Given the description of an element on the screen output the (x, y) to click on. 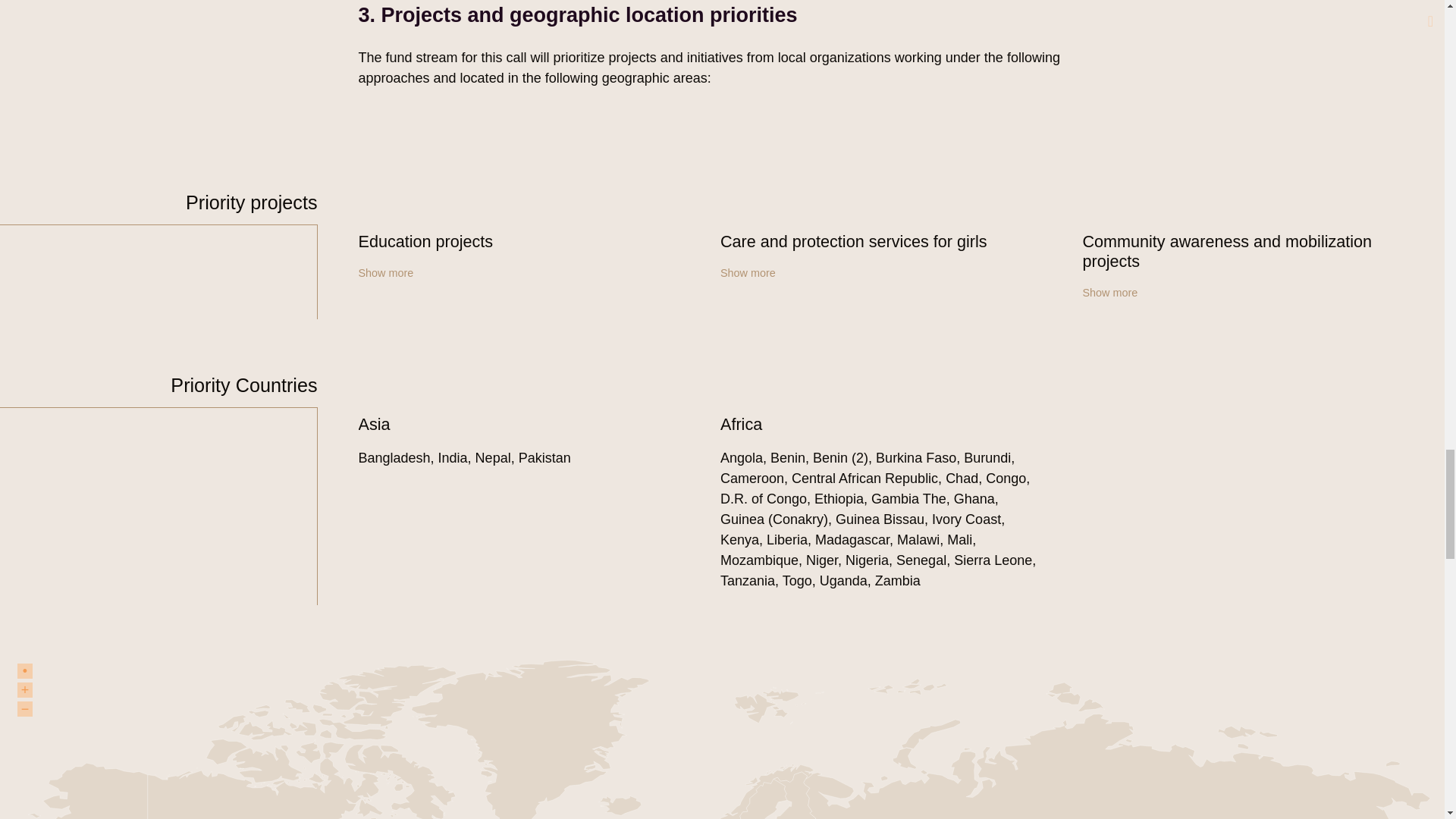
Zoom in (24, 689)
Reset zoom (24, 670)
Zoom out (24, 708)
